Given the description of an element on the screen output the (x, y) to click on. 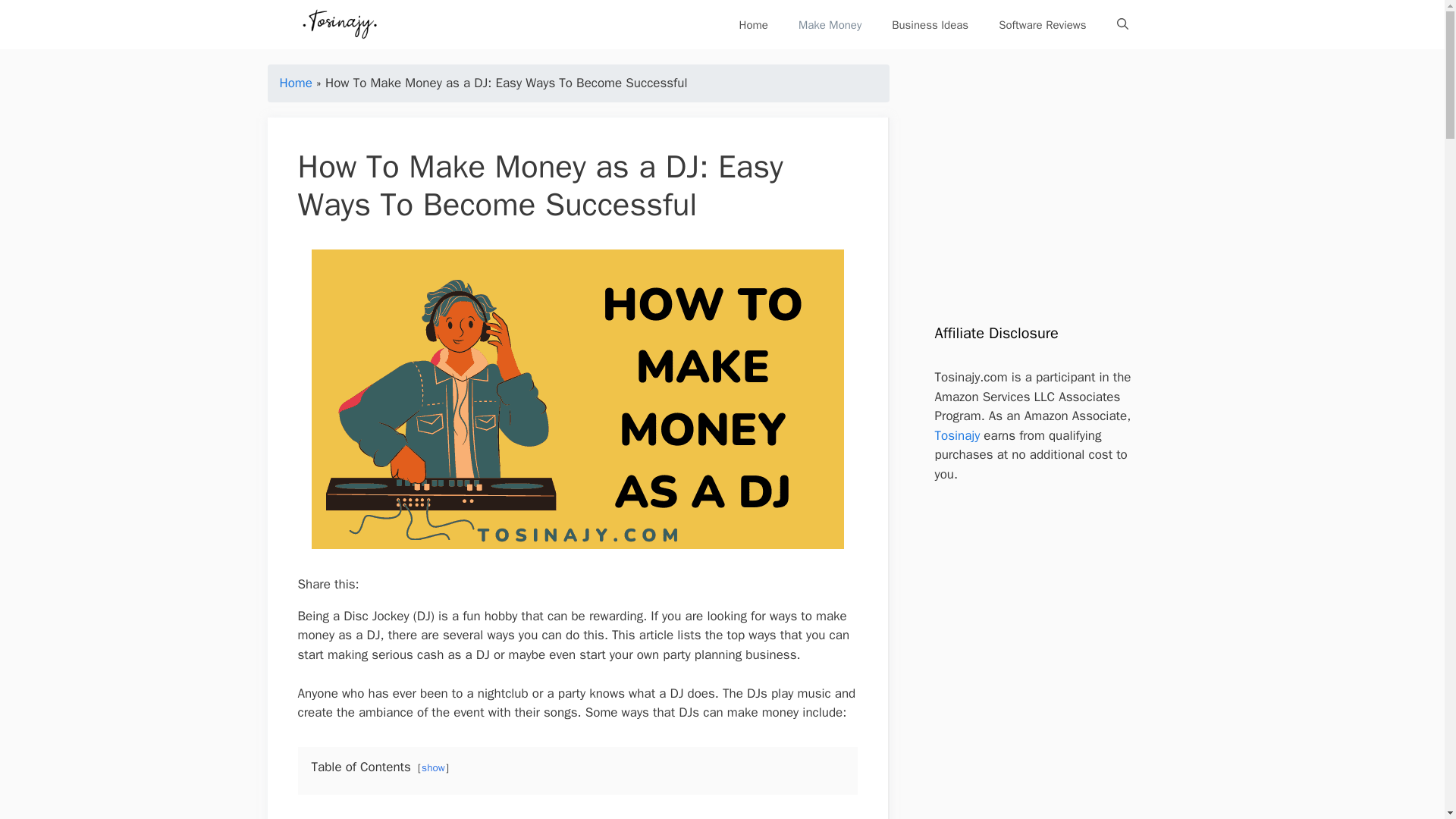
show (433, 767)
Tosinajy (339, 24)
Business Ideas (930, 23)
Home (753, 23)
Software Reviews (1042, 23)
Home (295, 82)
Make Money (829, 23)
